Given the description of an element on the screen output the (x, y) to click on. 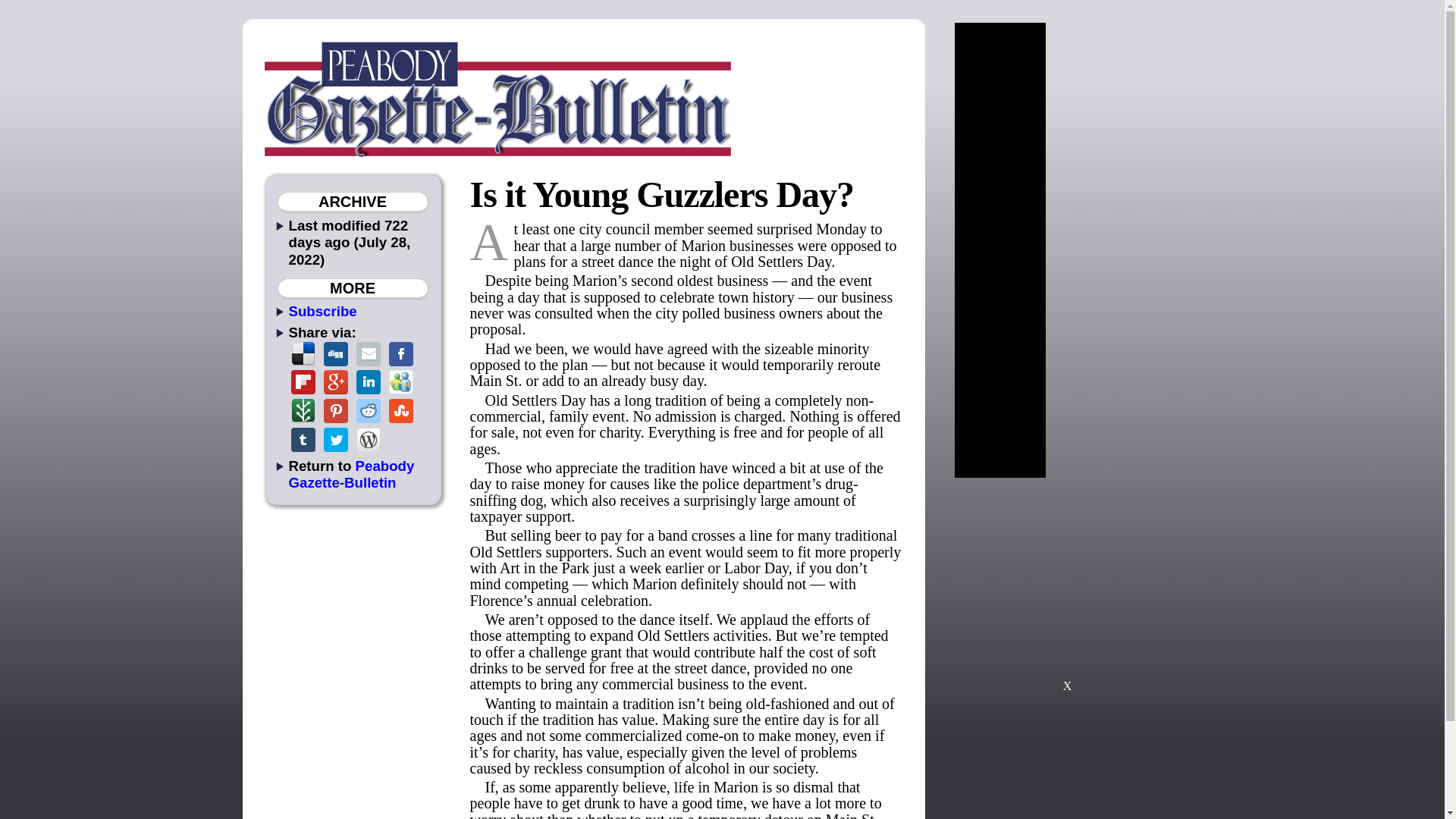
Advertisement (1067, 591)
Peabody Gazette-Bulletin (350, 473)
Subscribe (322, 311)
